Given the description of an element on the screen output the (x, y) to click on. 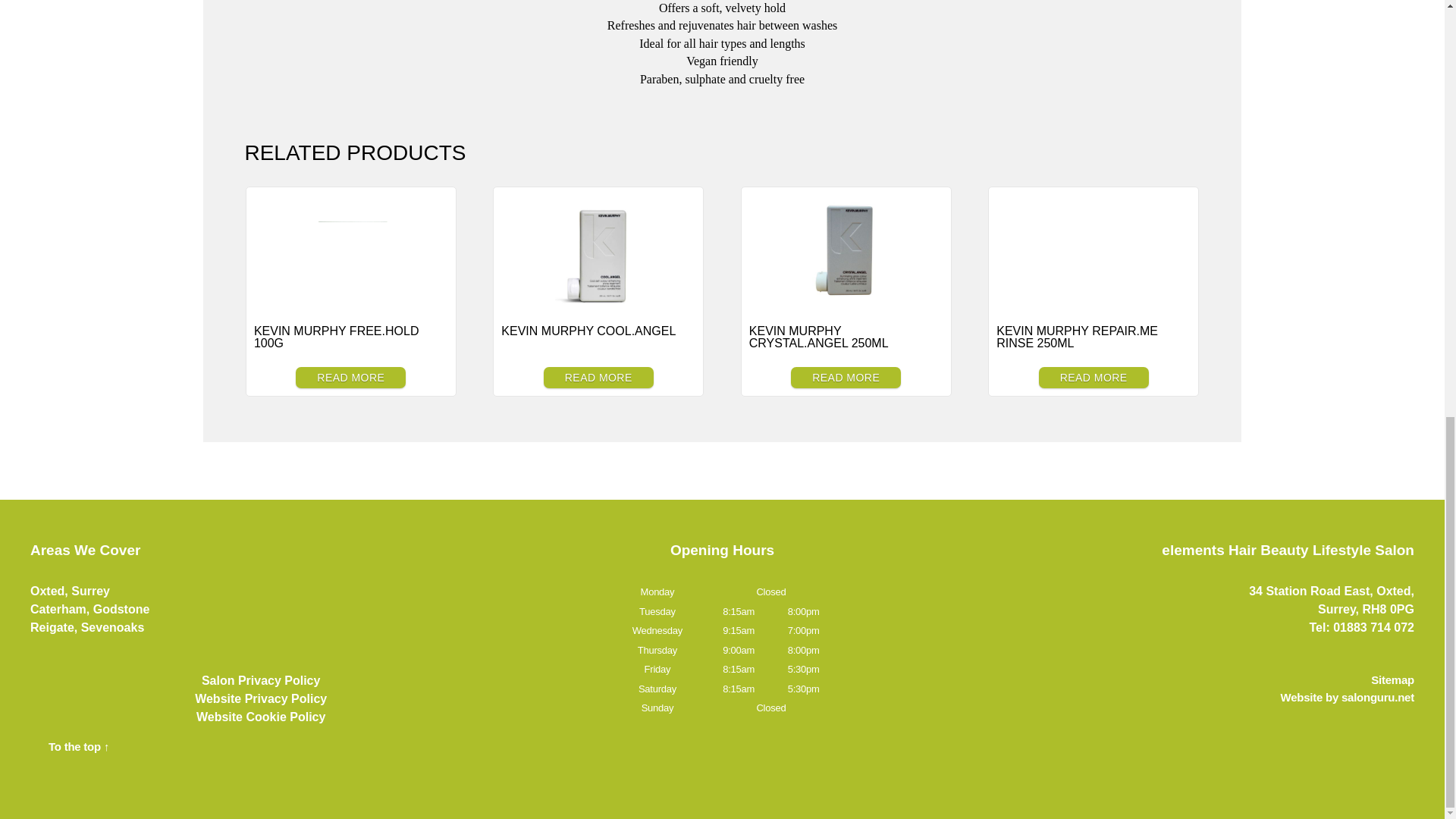
Kevin Murphy Cool.Angel (597, 251)
Kevin Murphy Crystal.Angel 250ml (846, 251)
Kevin Murphy Free.Hold 100g (350, 251)
